Given the description of an element on the screen output the (x, y) to click on. 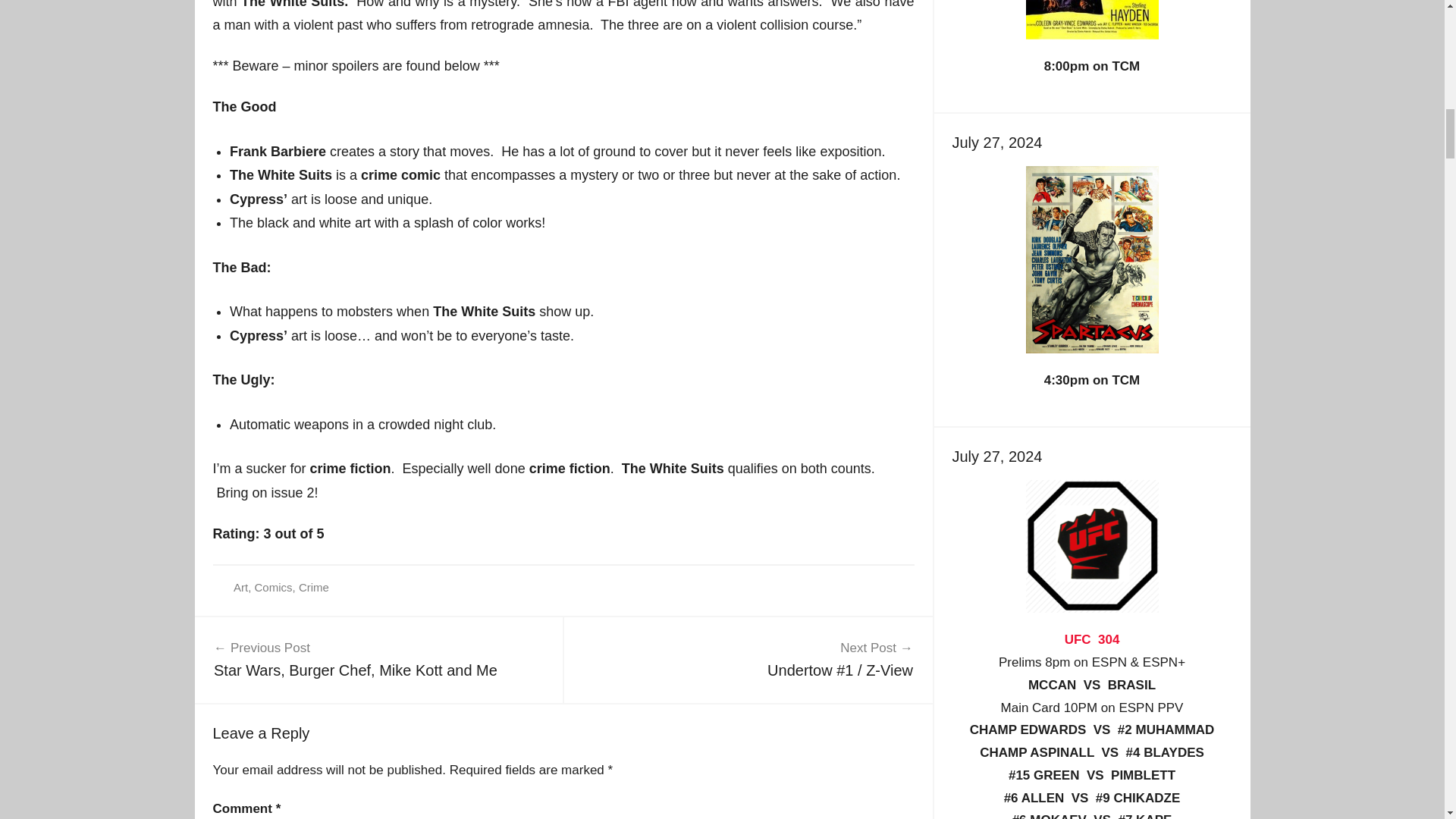
Comics (273, 586)
UFC  304 (378, 658)
Art (1091, 639)
Crime (239, 586)
